Given the description of an element on the screen output the (x, y) to click on. 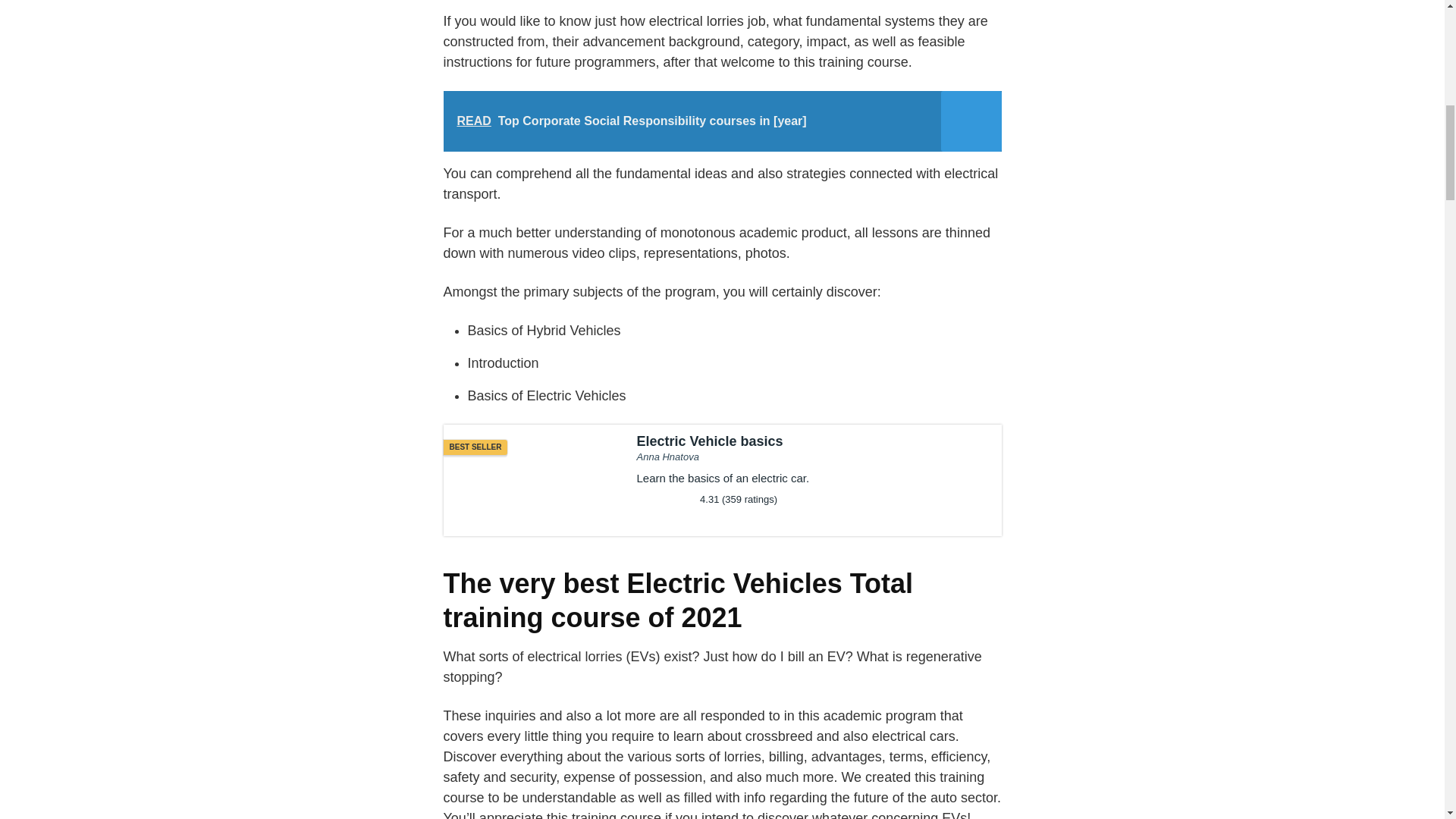
Electric Vehicle basics (721, 480)
